Given the description of an element on the screen output the (x, y) to click on. 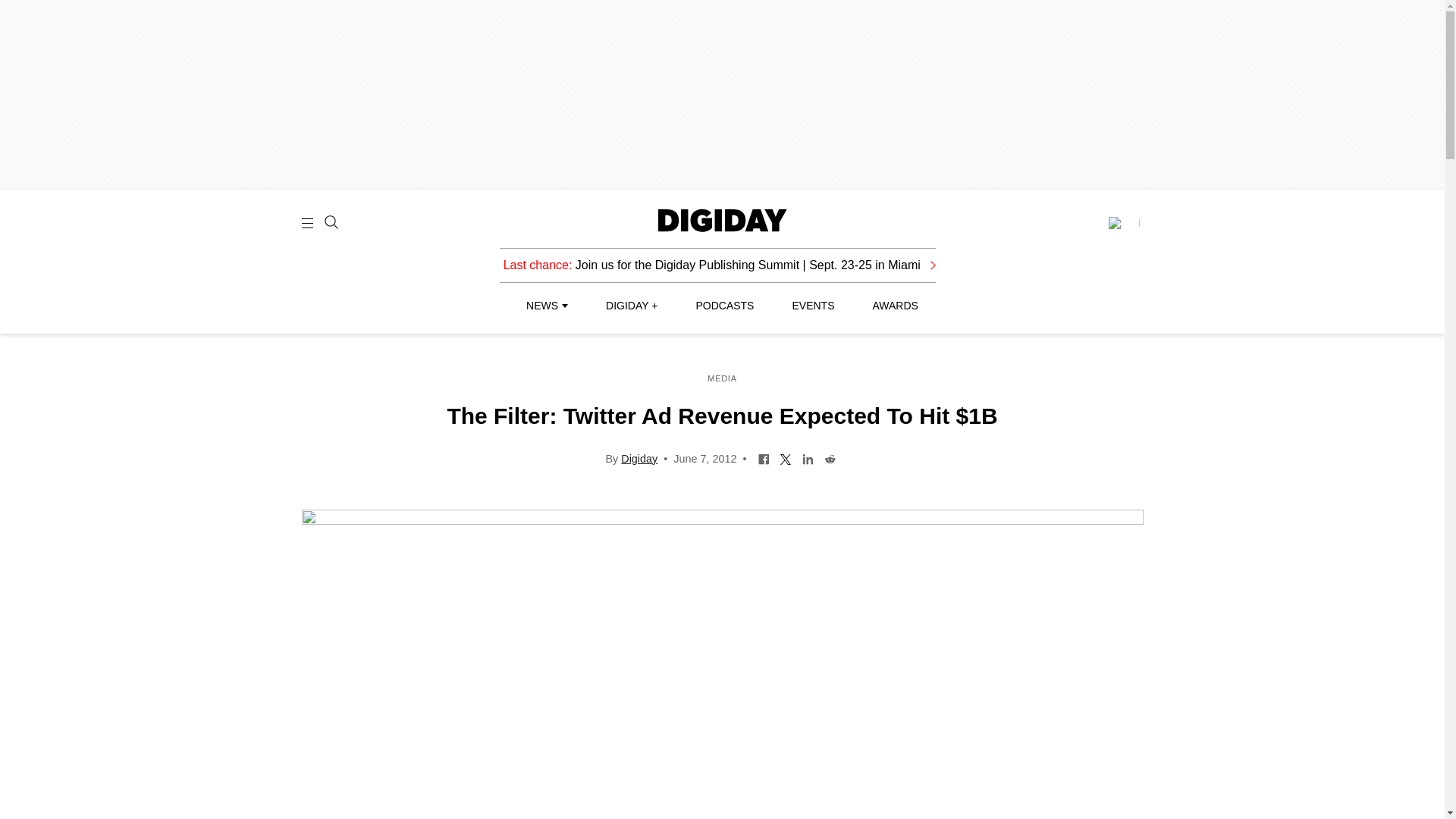
PODCASTS (725, 305)
AWARDS (894, 305)
Subscribe (1123, 223)
NEWS (546, 305)
Share on Facebook (763, 458)
Share on Reddit (829, 458)
Share on Twitter (785, 458)
EVENTS (813, 305)
Share on LinkedIn (807, 458)
